Given the description of an element on the screen output the (x, y) to click on. 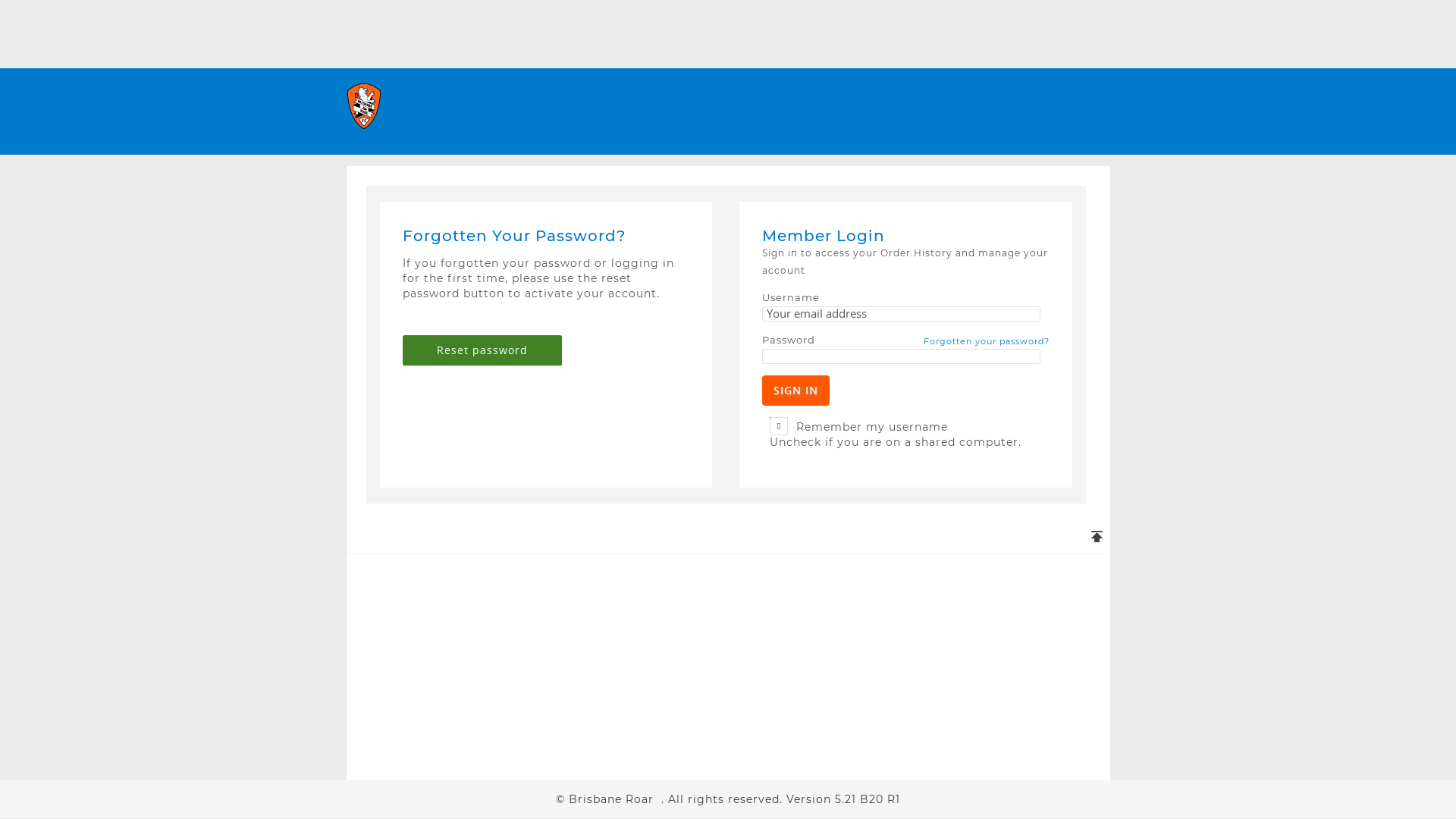
Sign In Element type: text (795, 390)
BACK TO TOP   Element type: text (1056, 538)
Forgotten your password? Element type: text (986, 341)
Reset password Element type: text (481, 350)
